Given the description of an element on the screen output the (x, y) to click on. 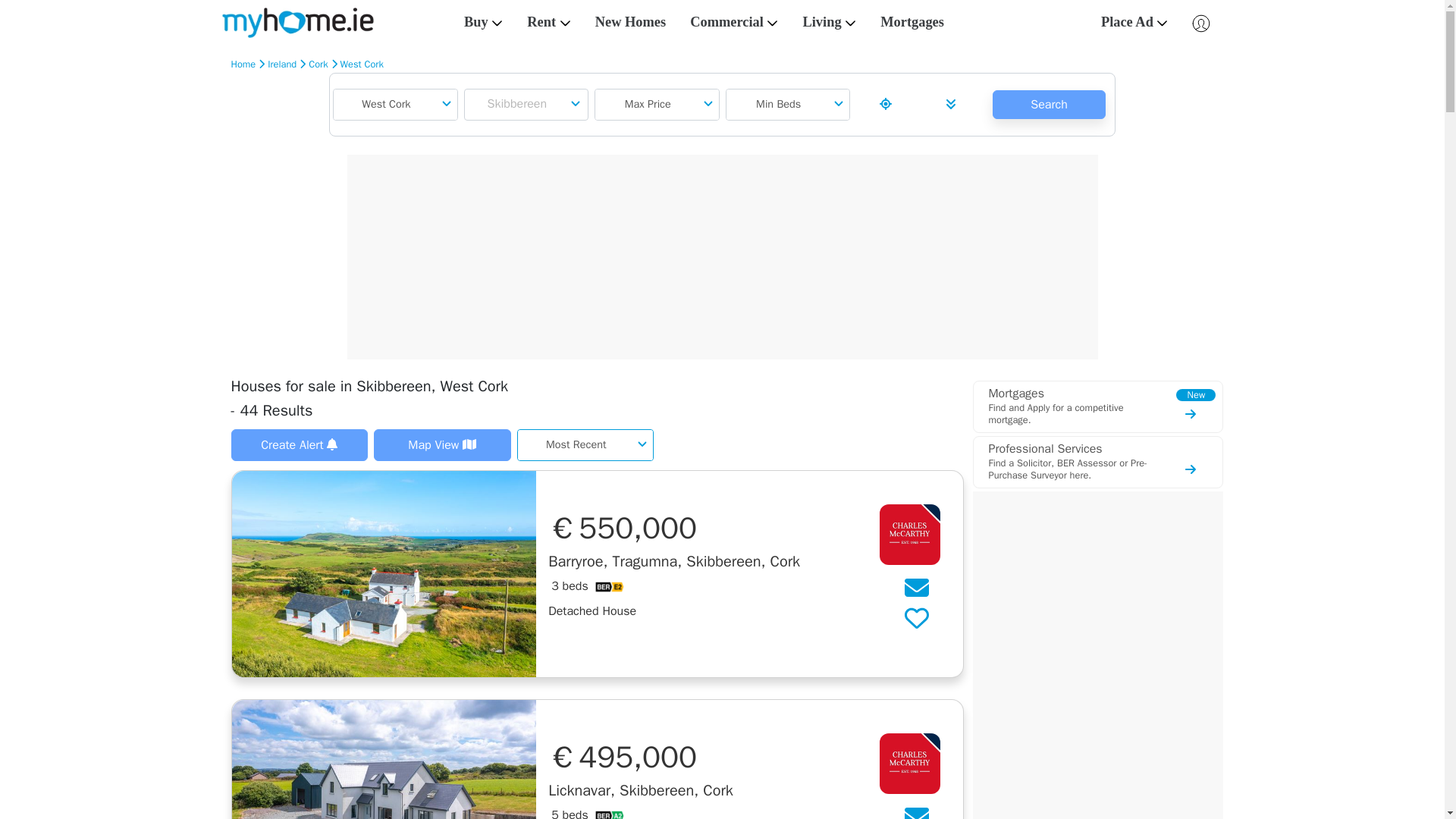
Living (828, 22)
New Homes (630, 22)
Mortgages (912, 22)
Rent (548, 22)
Buy (483, 22)
